Given the description of an element on the screen output the (x, y) to click on. 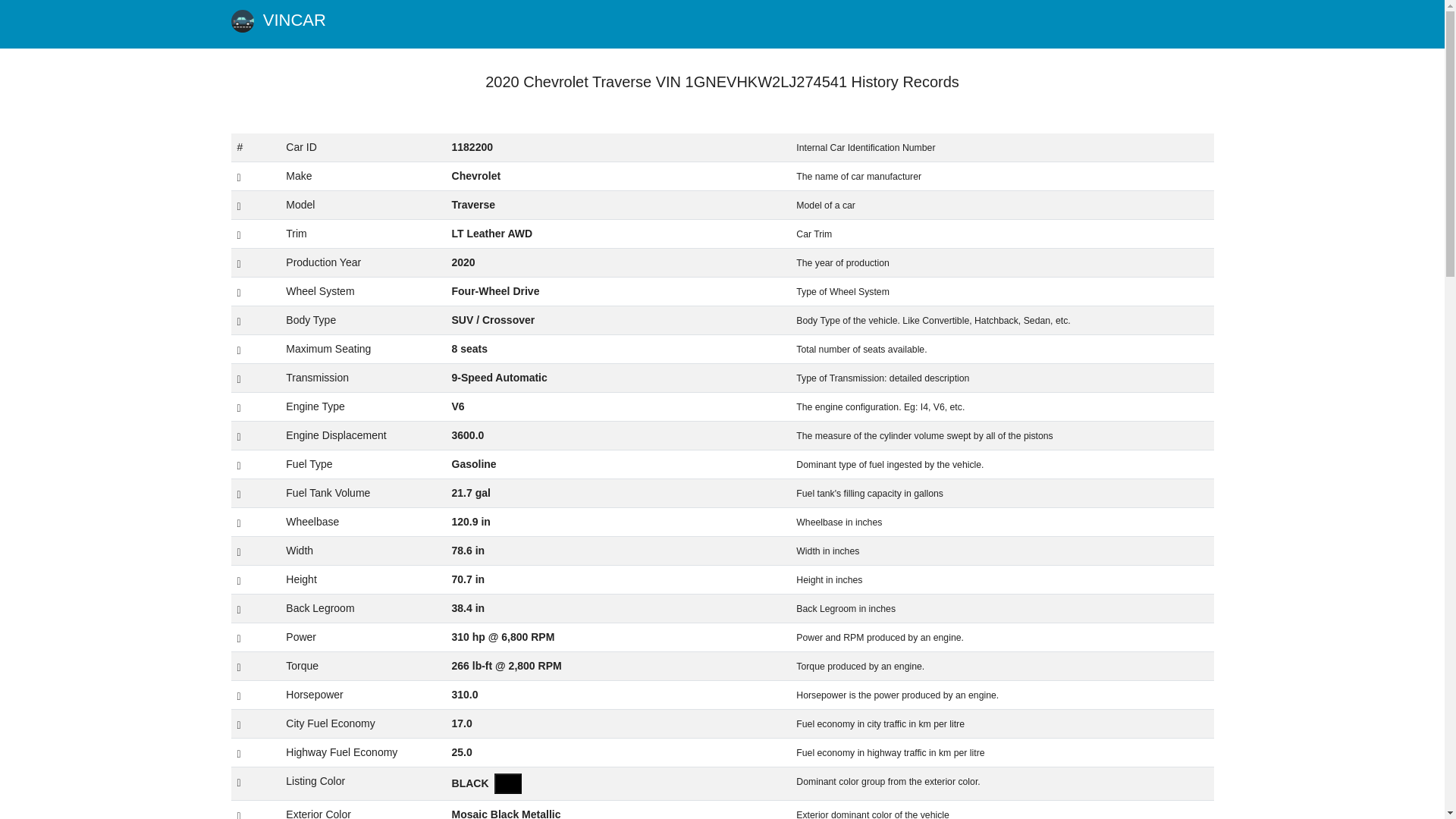
VinCar.pro (241, 20)
VinCar.pro (277, 23)
  VINCAR (277, 23)
